Given the description of an element on the screen output the (x, y) to click on. 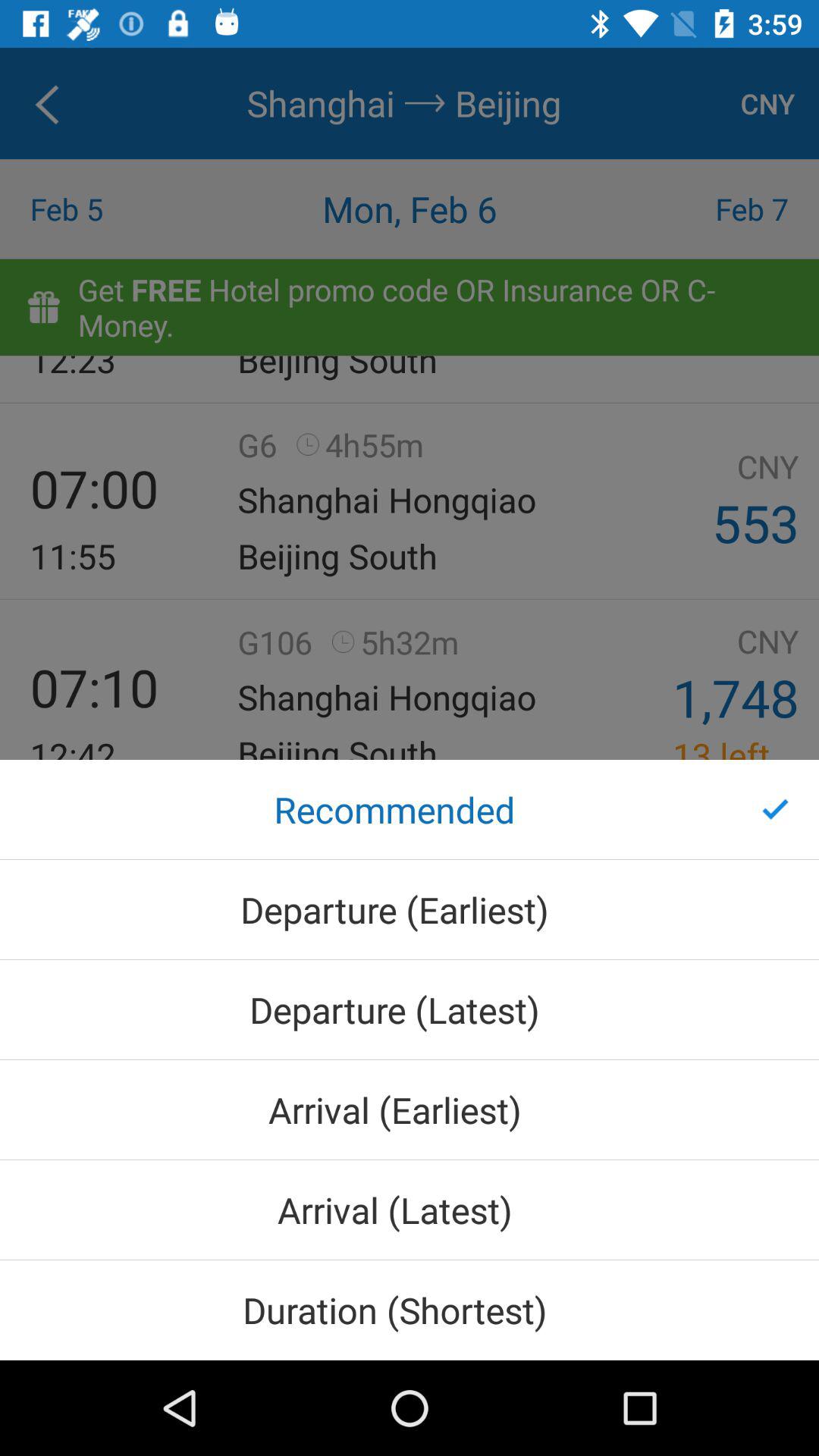
launch the item on the right (774, 809)
